Given the description of an element on the screen output the (x, y) to click on. 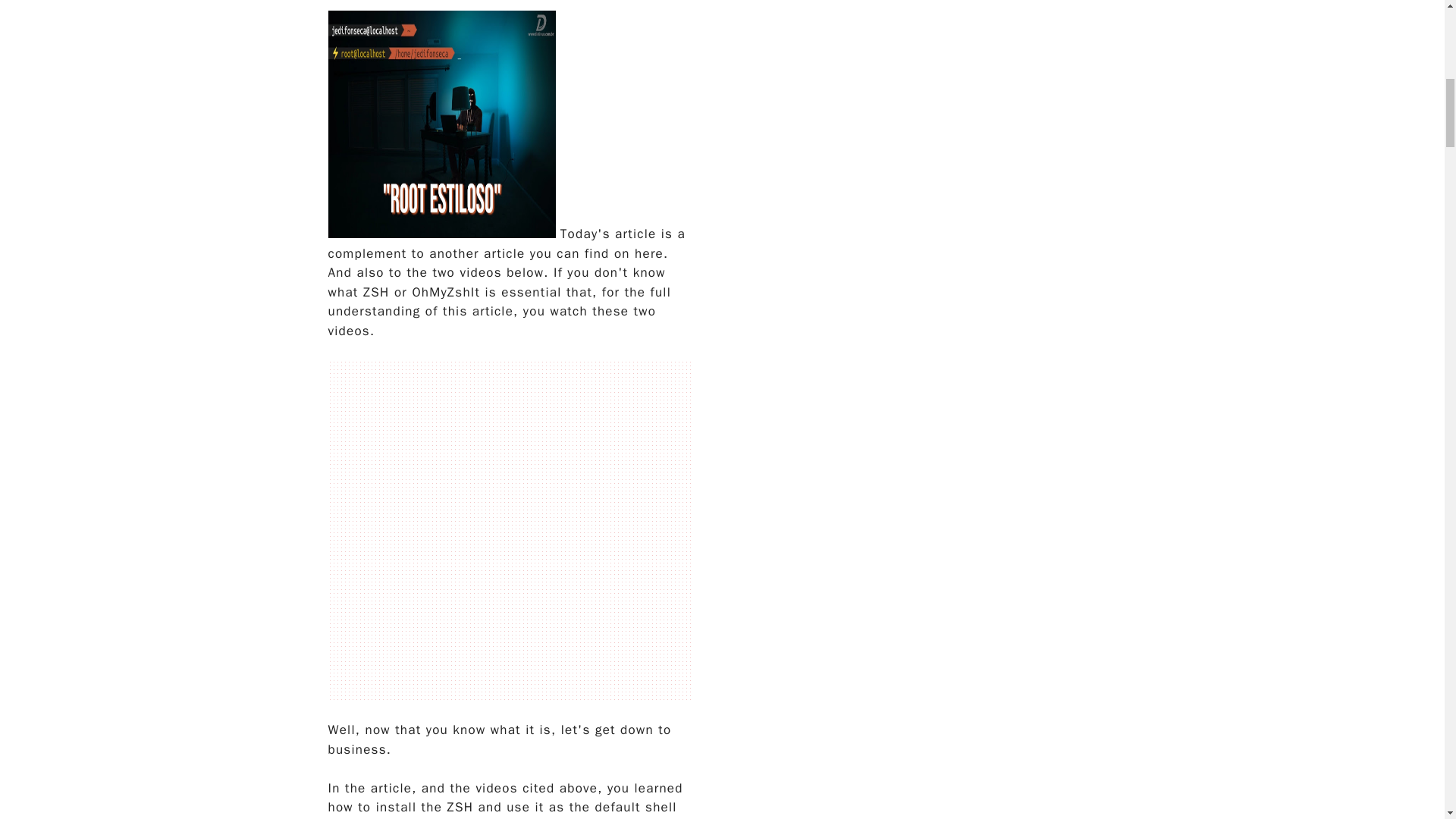
How to import OhMyZsh settings and themes into root (440, 124)
Scroll back to top (1406, 720)
